Given the description of an element on the screen output the (x, y) to click on. 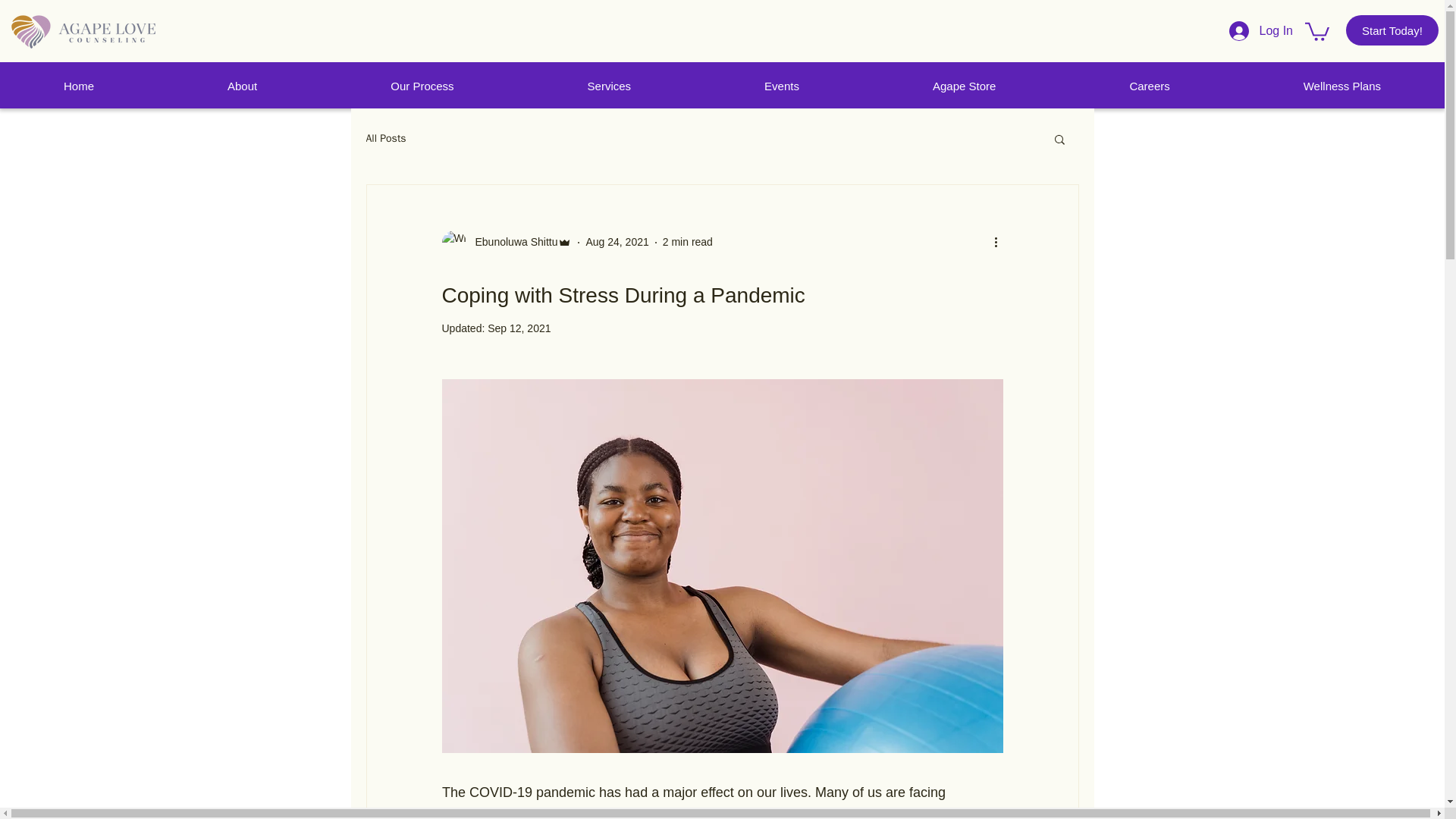
Home (78, 85)
Wellness Plans (1342, 85)
About (241, 85)
Aug 24, 2021 (616, 241)
2 min read (687, 241)
Events (781, 85)
Log In (1260, 30)
Agape Store (964, 85)
Ebunoluwa Shittu (506, 242)
Services (609, 85)
